Given the description of an element on the screen output the (x, y) to click on. 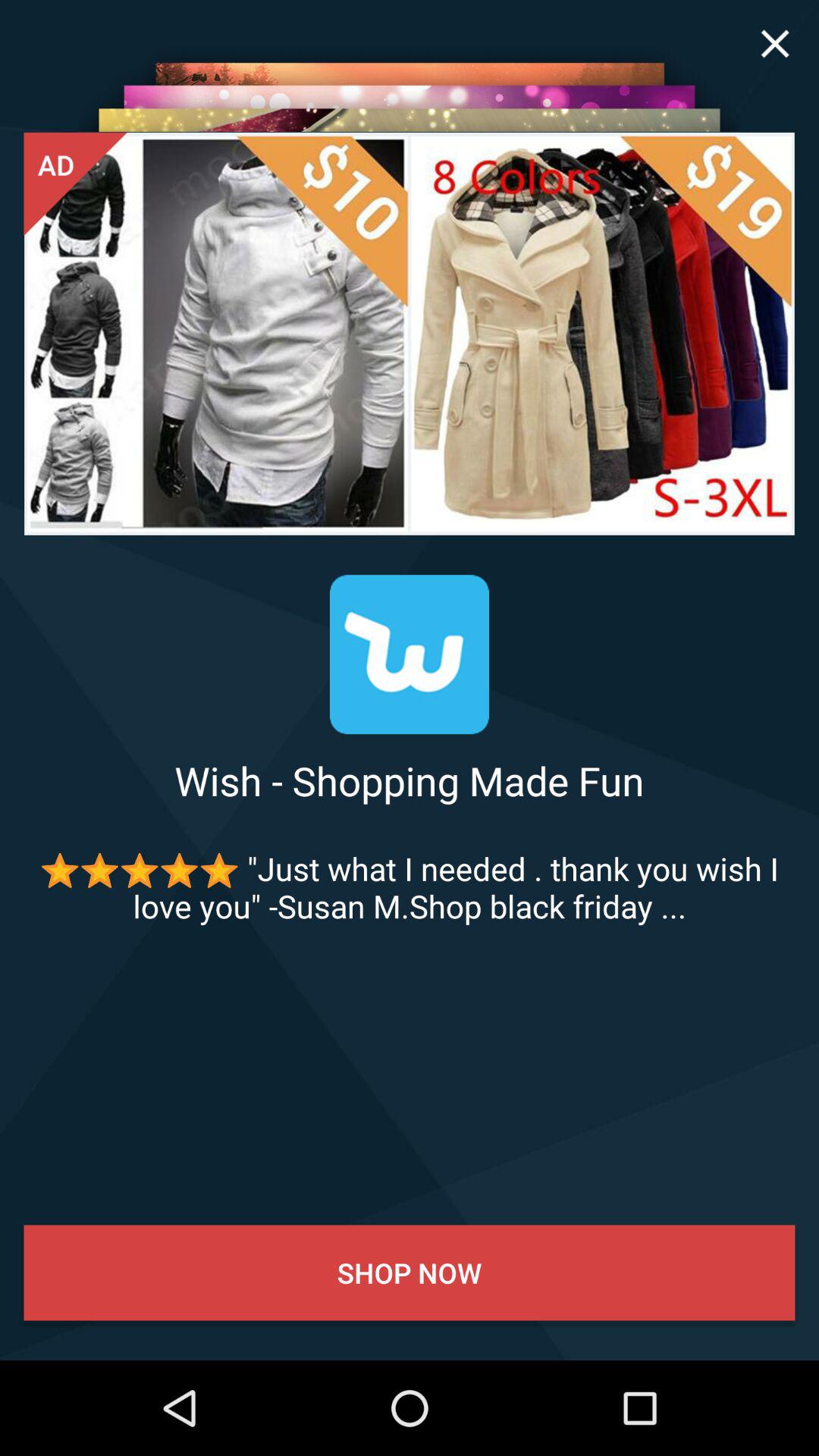
launch wish shopping made item (409, 780)
